Given the description of an element on the screen output the (x, y) to click on. 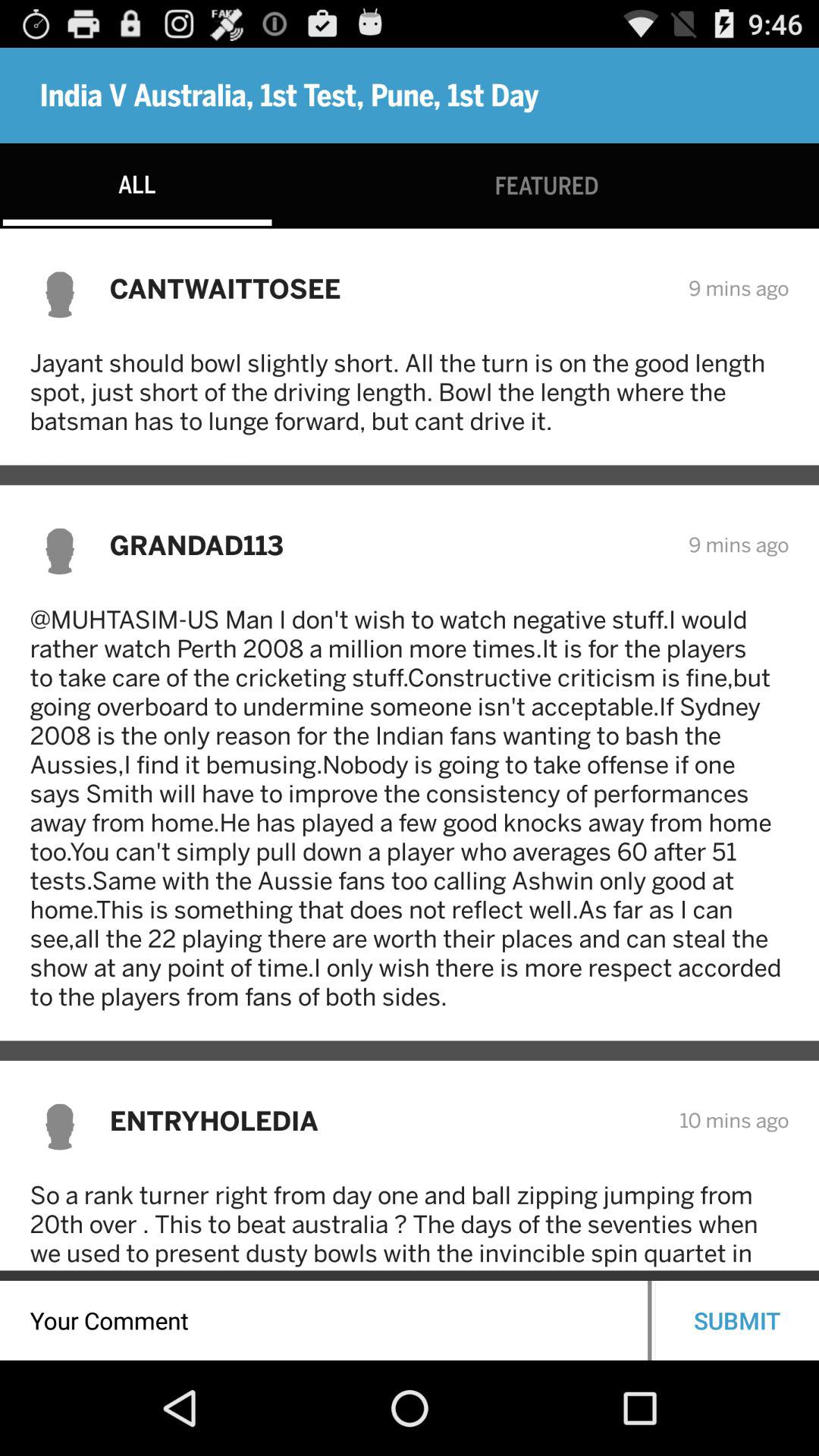
choose the item below muhtasim us man (384, 1120)
